Given the description of an element on the screen output the (x, y) to click on. 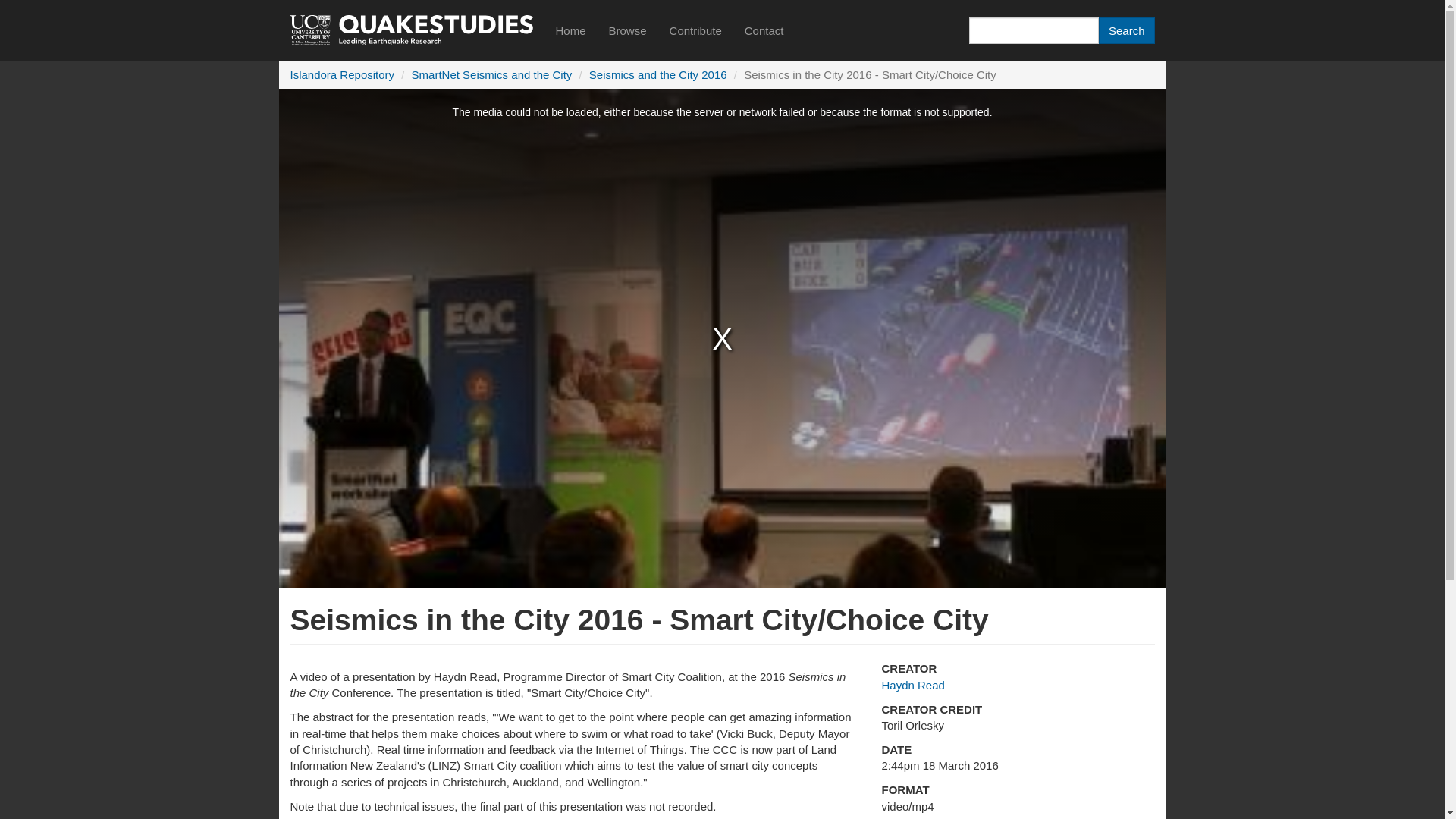
Contribute (695, 30)
Home (410, 30)
Home (570, 30)
Haydn Read (911, 684)
Contact (763, 30)
Search (1126, 29)
Islandora Repository (341, 74)
Seismics and the City 2016 (657, 74)
SmartNet Seismics and the City (492, 74)
UC QuakeStudies (410, 30)
Browse (627, 30)
